Given the description of an element on the screen output the (x, y) to click on. 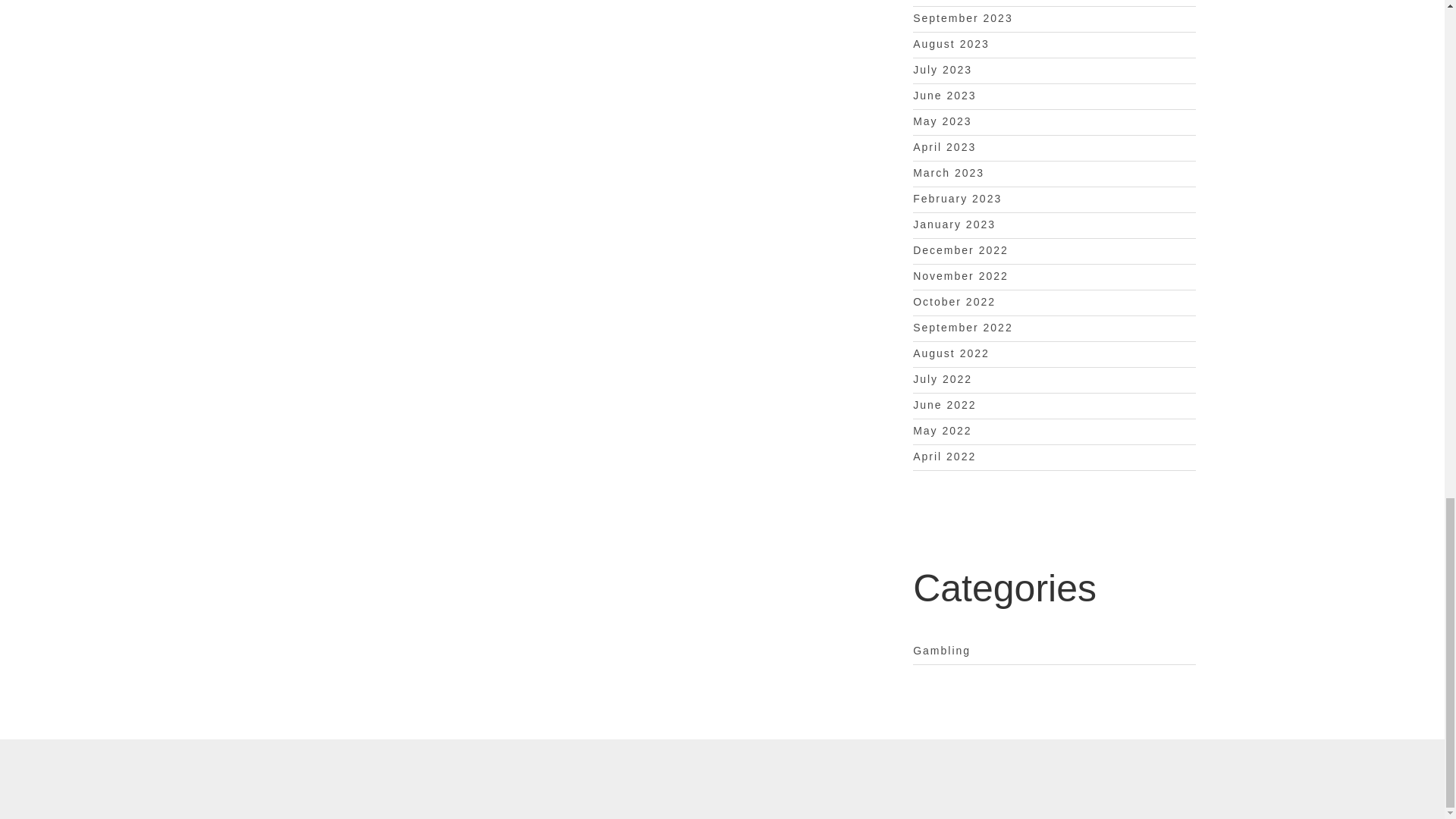
July 2023 (942, 69)
October 2022 (953, 301)
June 2022 (943, 404)
March 2023 (948, 173)
July 2022 (942, 378)
September 2022 (962, 327)
May 2023 (941, 121)
April 2023 (943, 146)
August 2022 (951, 353)
December 2022 (960, 250)
